Given the description of an element on the screen output the (x, y) to click on. 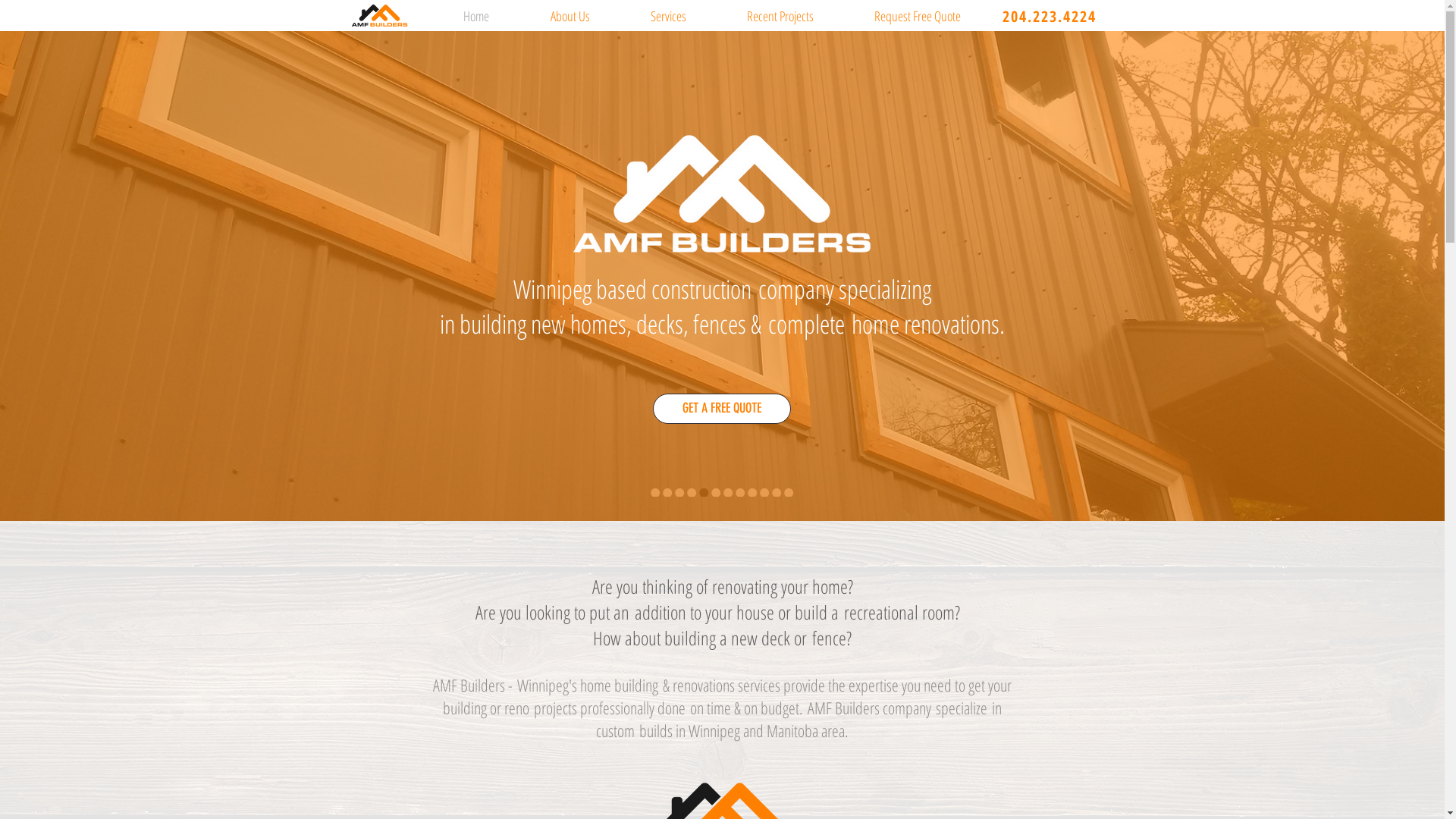
About Us Element type: text (570, 13)
Request Free Quote Element type: text (916, 13)
Recent Projects Element type: text (779, 13)
GET A FREE QUOTE Element type: text (721, 408)
Embedded Content Element type: hover (717, 8)
Home Element type: text (475, 13)
Services Element type: text (668, 13)
